Given the description of an element on the screen output the (x, y) to click on. 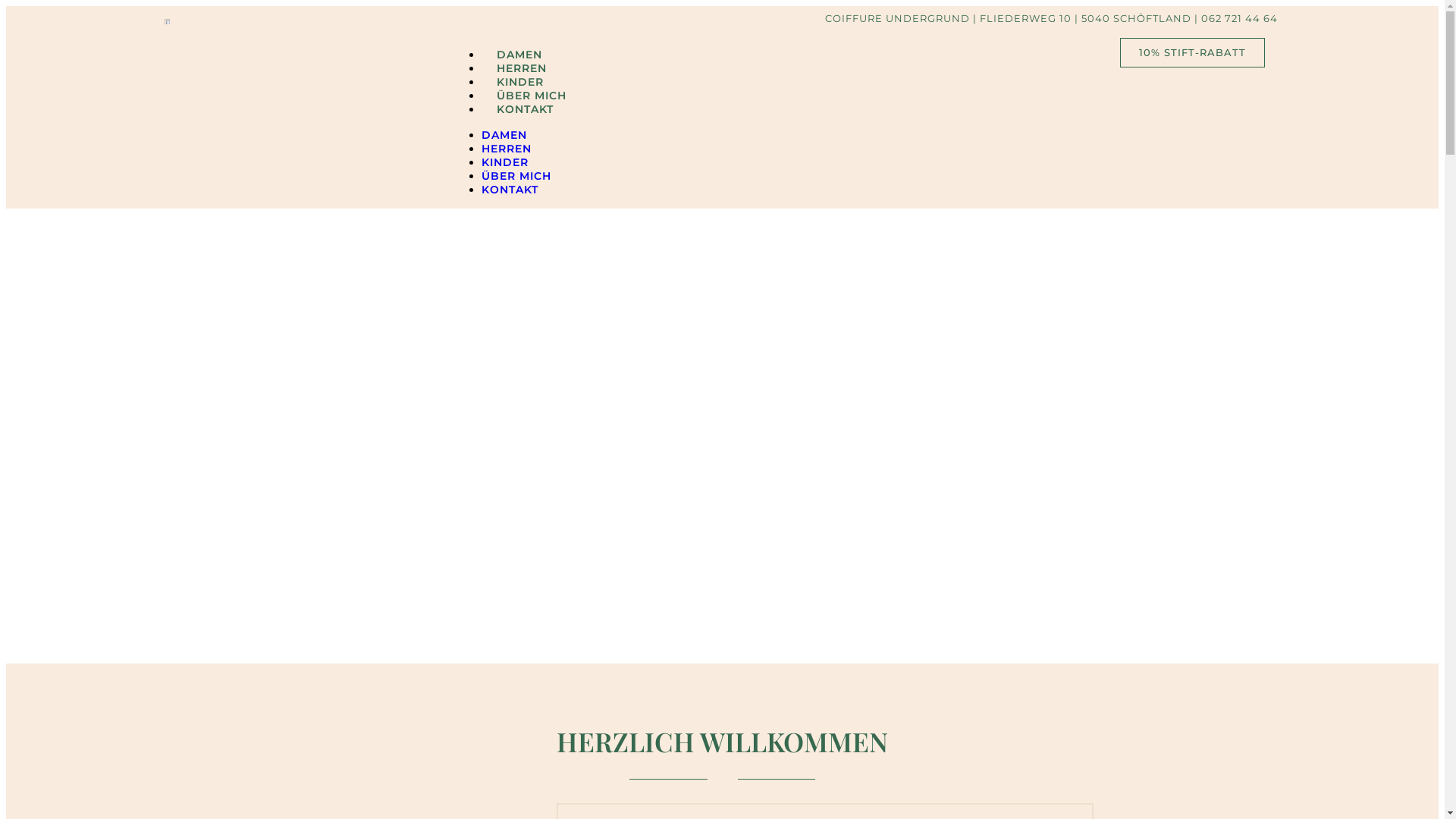
KONTAKT Element type: text (509, 189)
DAMEN Element type: text (519, 54)
KINDER Element type: text (504, 162)
KONTAKT Element type: text (524, 109)
HERREN Element type: text (521, 68)
KINDER Element type: text (519, 81)
10% STIFT-RABATT Element type: text (1192, 52)
DAMEN Element type: text (504, 134)
HERREN Element type: text (506, 148)
